Given the description of an element on the screen output the (x, y) to click on. 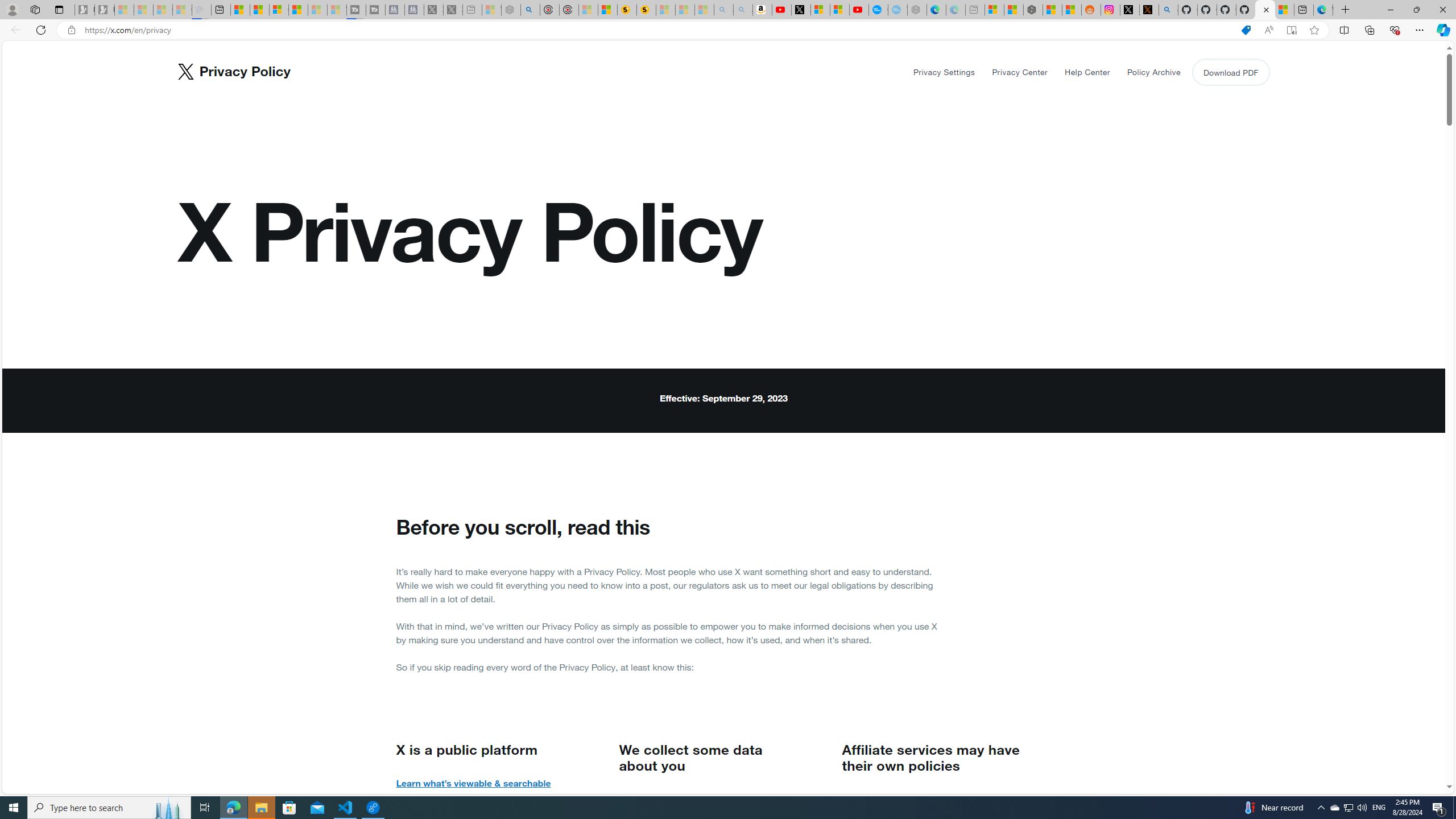
Day 1: Arriving in Yemen (surreal to be here) - YouTube (781, 9)
New tab - Sleeping (975, 9)
github - Search (1168, 9)
Newsletter Sign Up - Sleeping (104, 9)
